Given the description of an element on the screen output the (x, y) to click on. 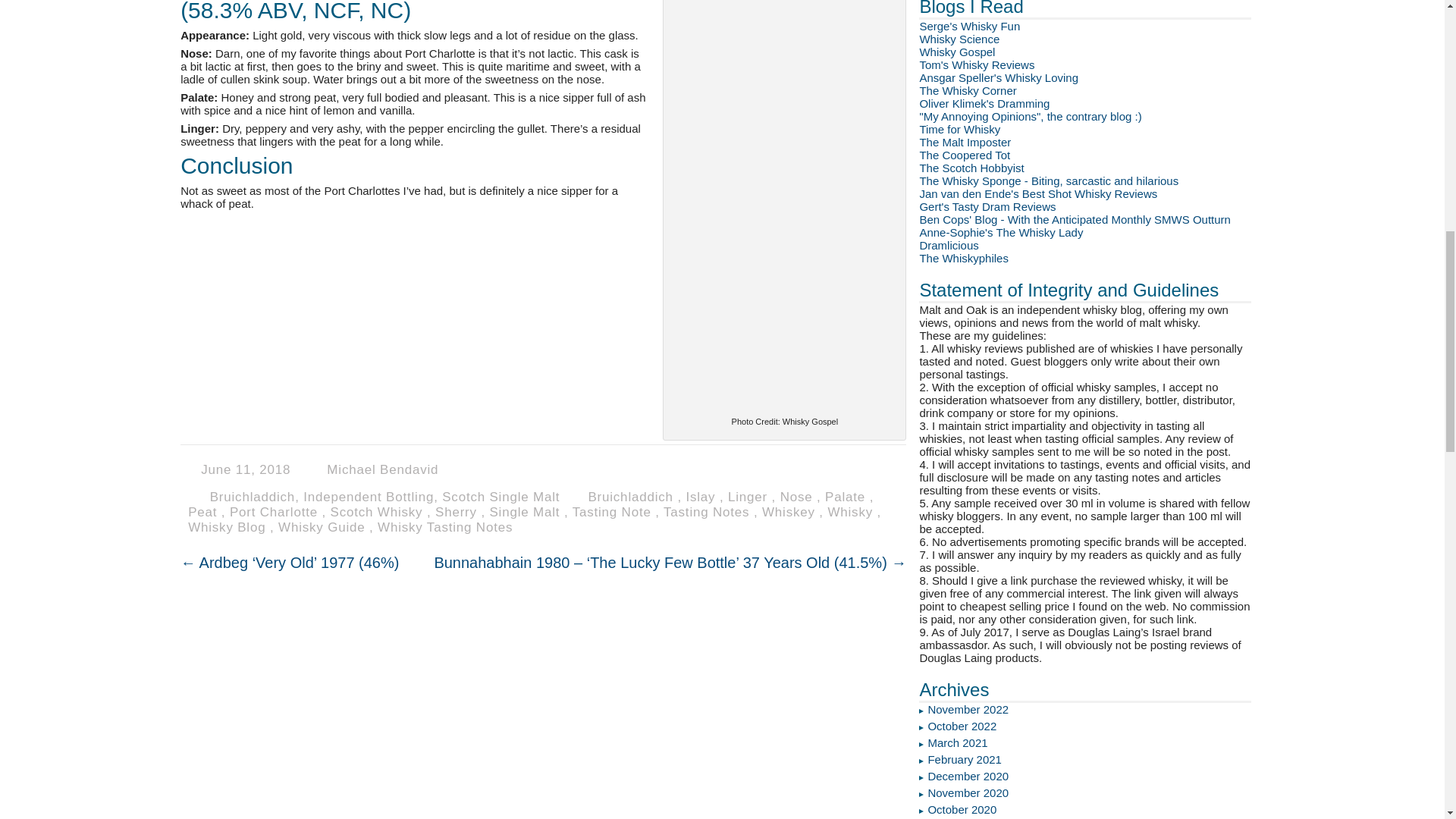
View all posts by Michael Bendavid (382, 469)
2:52 pm (249, 469)
